Given the description of an element on the screen output the (x, y) to click on. 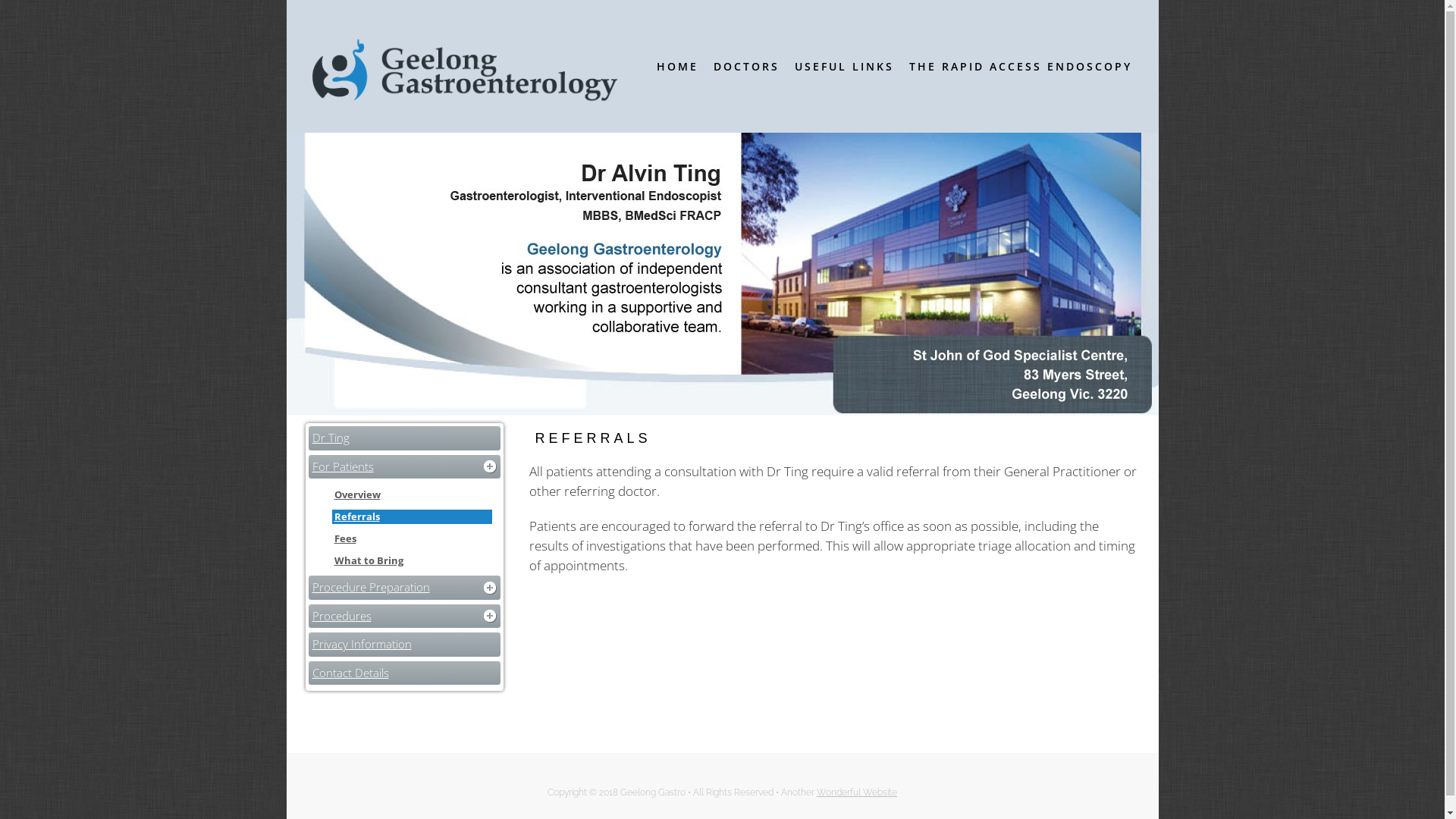
DOCTORS Element type: text (745, 66)
HOME Element type: text (677, 66)
Procedures Element type: text (404, 616)
USEFUL LINKS Element type: text (844, 66)
Overview Element type: text (411, 494)
Referrals Element type: text (411, 516)
Wonderful Website Element type: text (856, 792)
What to Bring Element type: text (411, 560)
Contact Details Element type: text (404, 672)
Fees Element type: text (411, 538)
Dr Ting Element type: text (404, 438)
Procedure Preparation Element type: text (404, 587)
For Patients Element type: text (404, 466)
Privacy Information Element type: text (404, 644)
THE RAPID ACCESS ENDOSCOPY Element type: text (1019, 66)
